Given the description of an element on the screen output the (x, y) to click on. 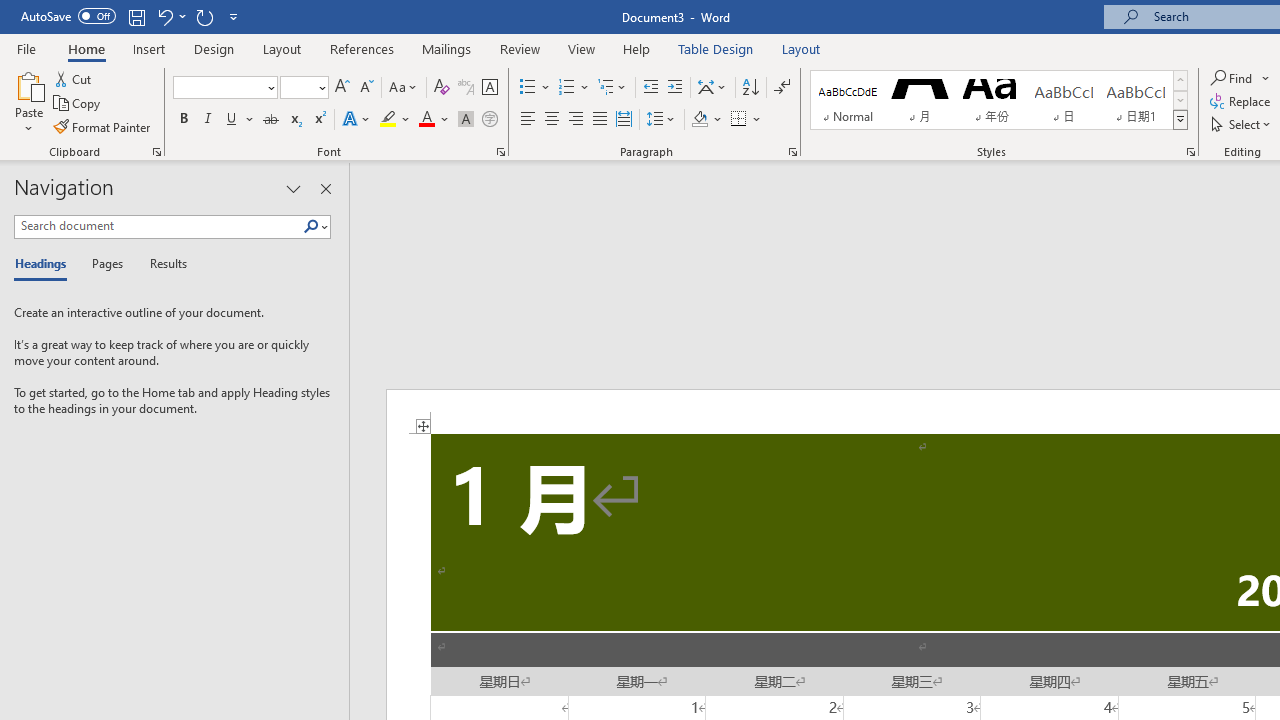
Design (214, 48)
Mailings (447, 48)
Align Left (527, 119)
Close pane (325, 188)
Undo Apply Quick Style (170, 15)
Increase Indent (675, 87)
Change Case (404, 87)
Superscript (319, 119)
Character Shading (465, 119)
Customize Quick Access Toolbar (234, 15)
Text Highlight Color (395, 119)
View (582, 48)
Asian Layout (712, 87)
